Given the description of an element on the screen output the (x, y) to click on. 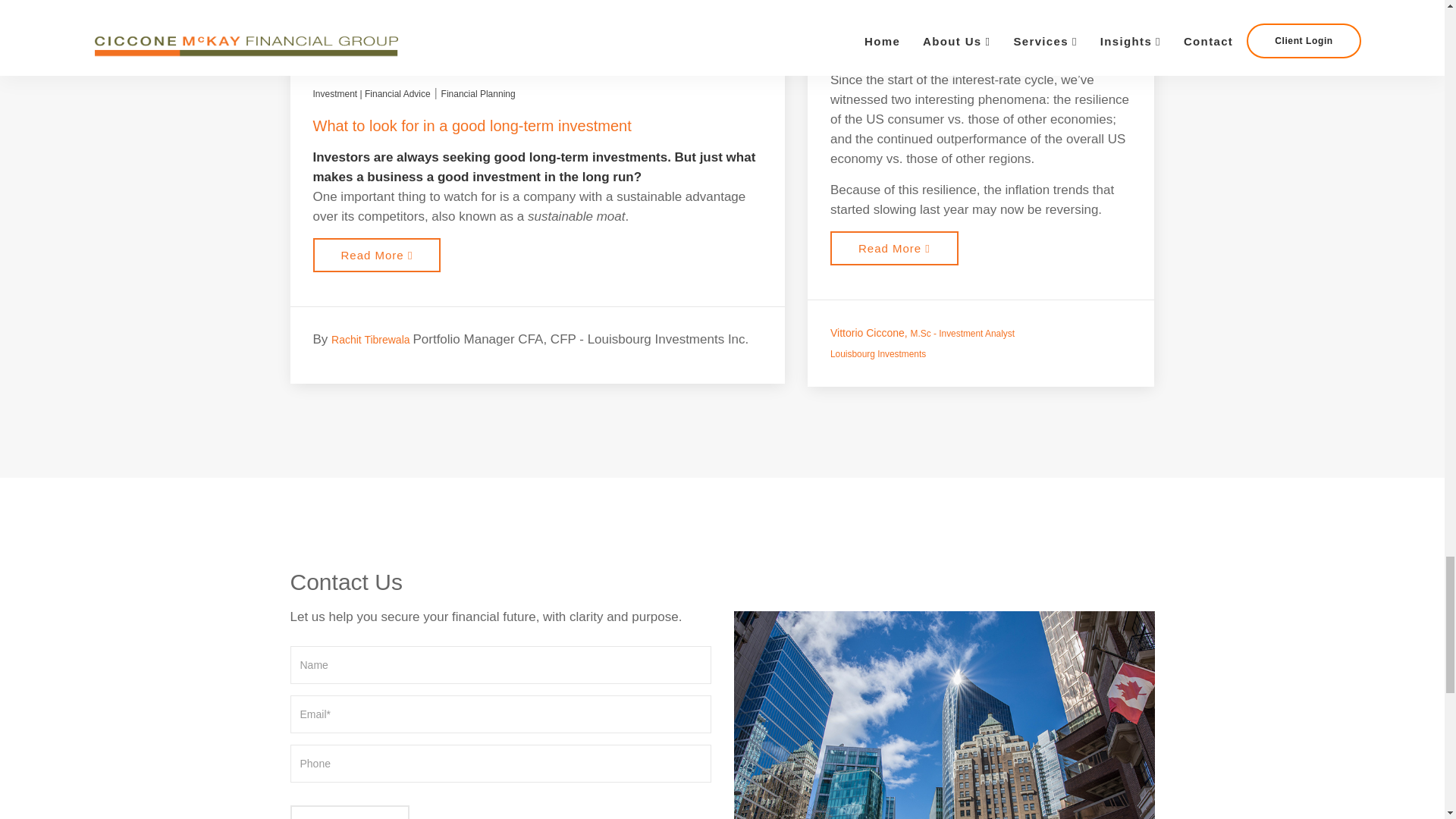
What to look for in a good long-term investment (471, 125)
Rachit Tibrewala (371, 339)
What to look for in a good long-term investment (377, 254)
Read More (377, 254)
What to look for in a good long-term investment (471, 125)
Financial Planning (478, 94)
